Given the description of an element on the screen output the (x, y) to click on. 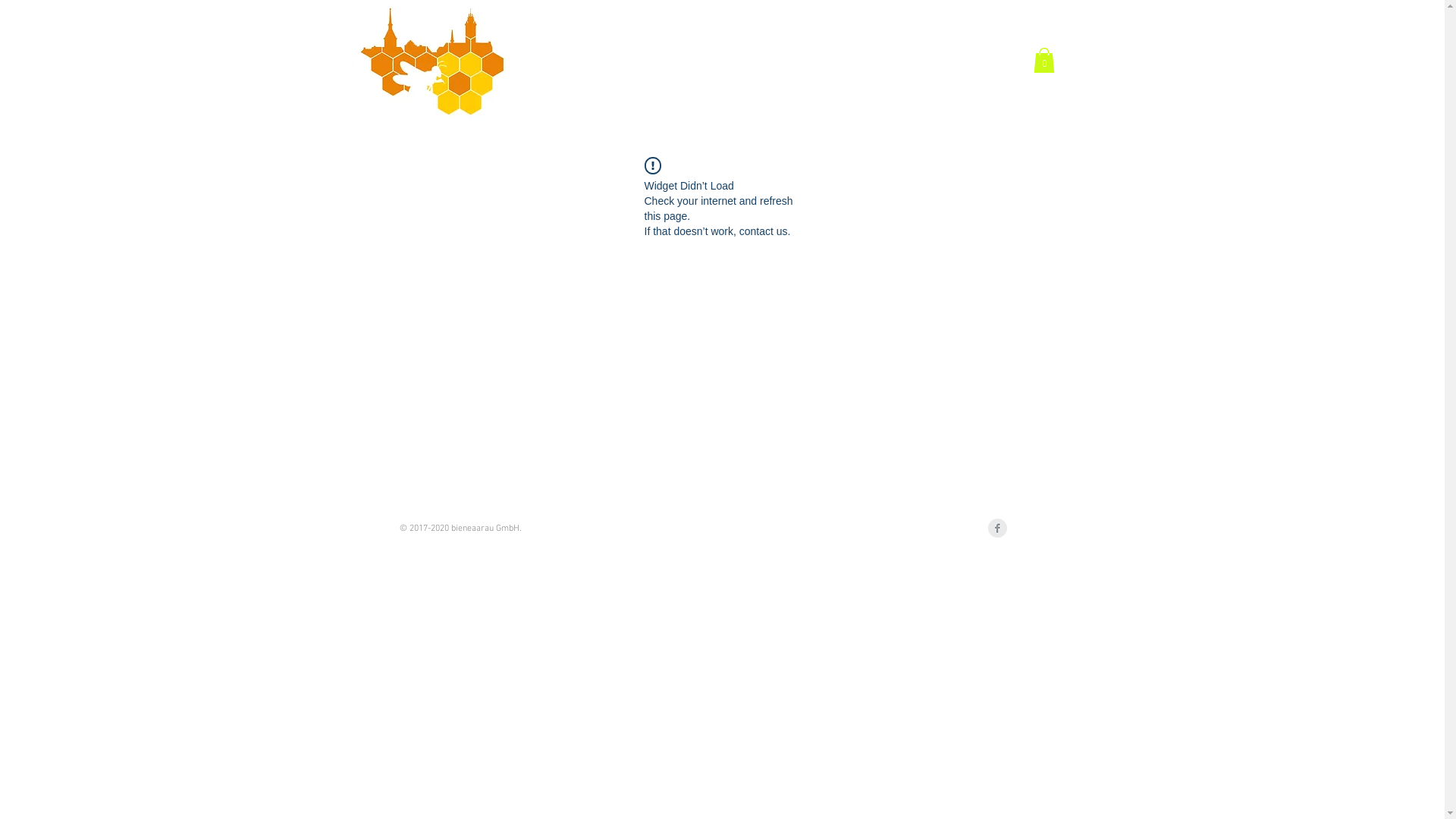
0 Element type: text (1043, 59)
